Given the description of an element on the screen output the (x, y) to click on. 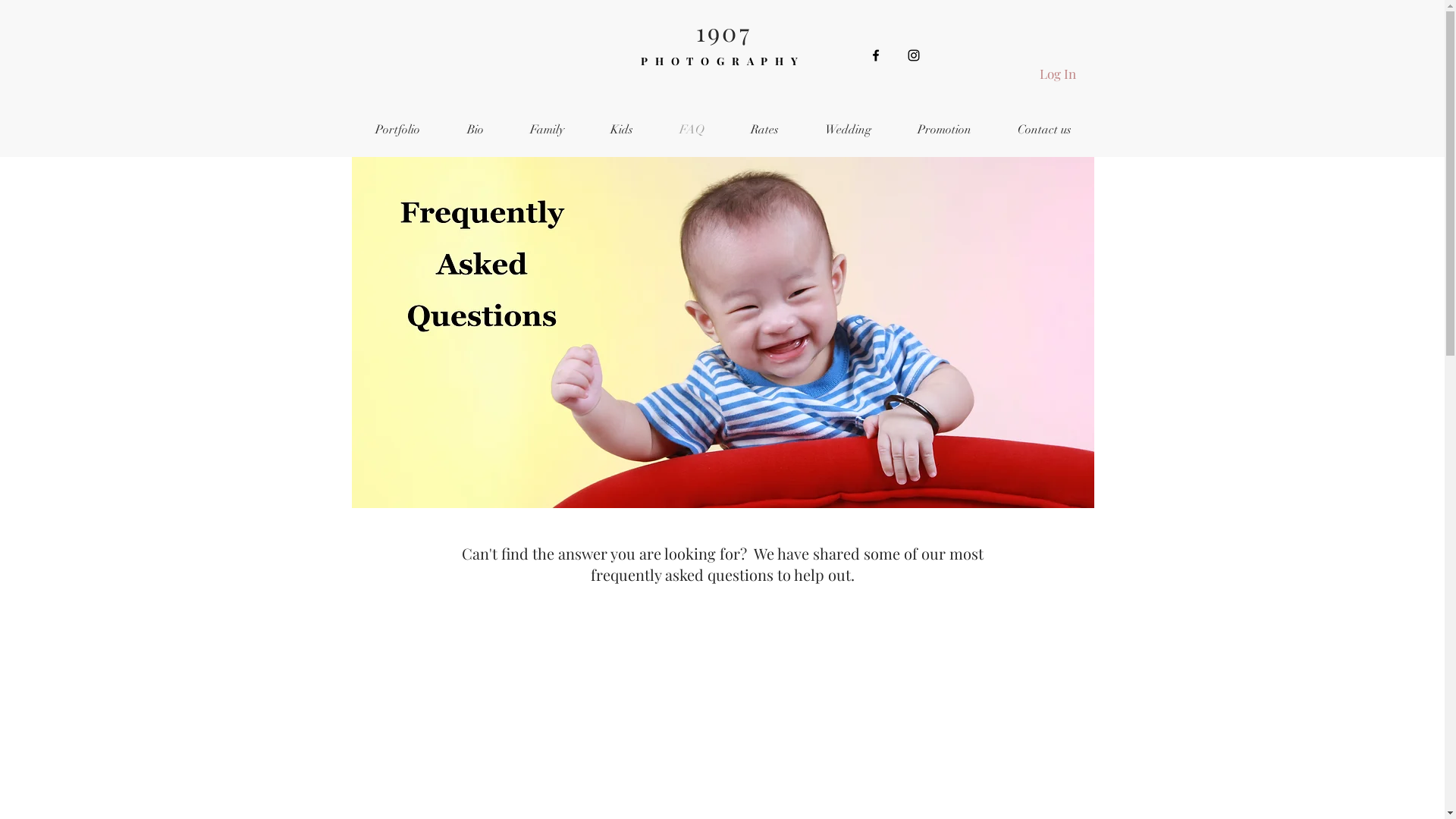
Wedding Element type: text (848, 129)
Bio Element type: text (474, 129)
1907 Element type: text (723, 31)
Kids Element type: text (620, 129)
Promotion Element type: text (944, 129)
Portfolio Element type: text (397, 129)
Rates Element type: text (765, 129)
Contact us Element type: text (1044, 129)
FAQ Element type: text (692, 129)
Log In Element type: text (1056, 73)
PHOTOGRAPHY Element type: text (722, 60)
Family Element type: text (546, 129)
